Given the description of an element on the screen output the (x, y) to click on. 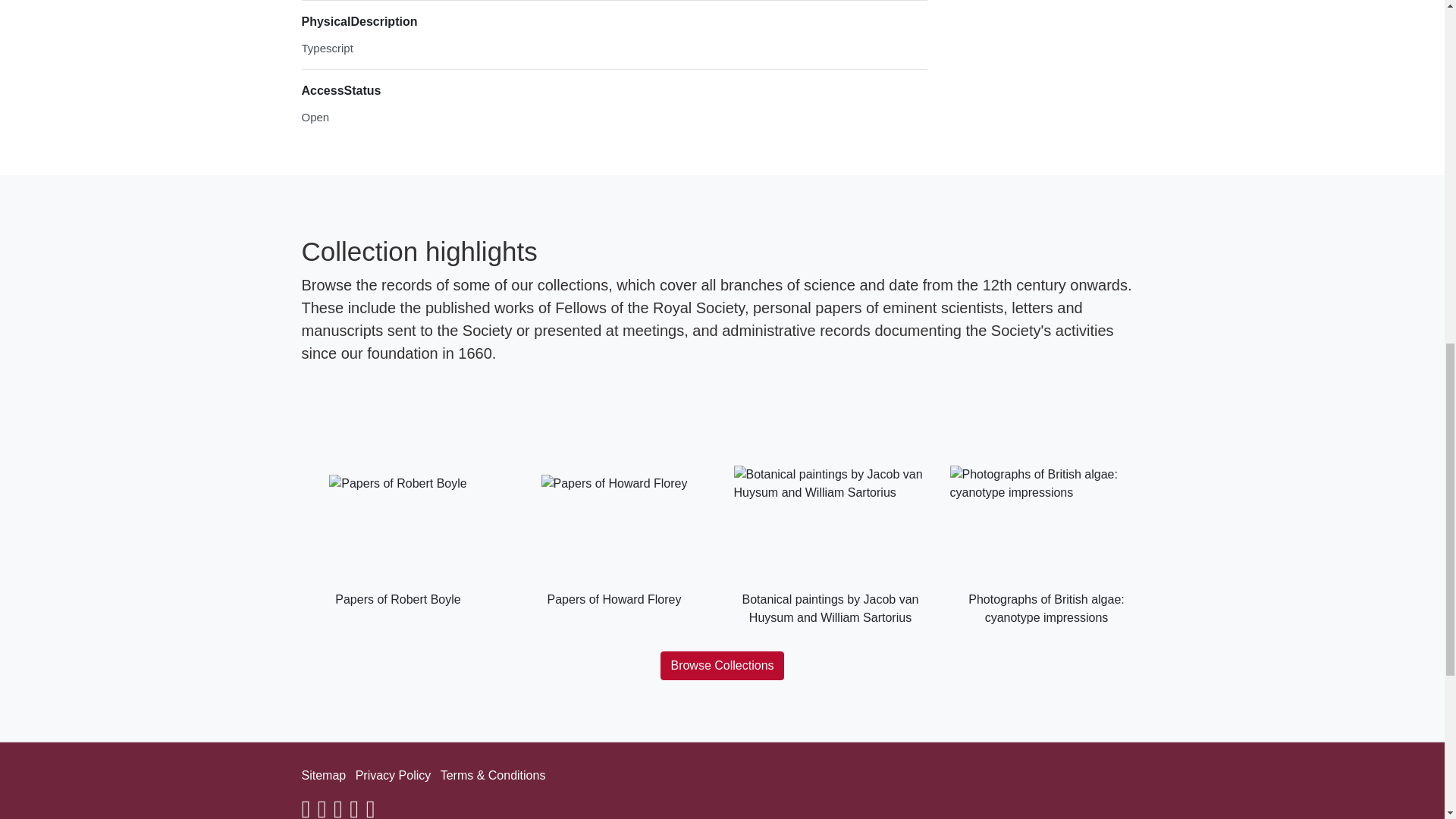
Privacy Policy (392, 775)
Sitemap (323, 775)
Browse Collections (722, 665)
